Given the description of an element on the screen output the (x, y) to click on. 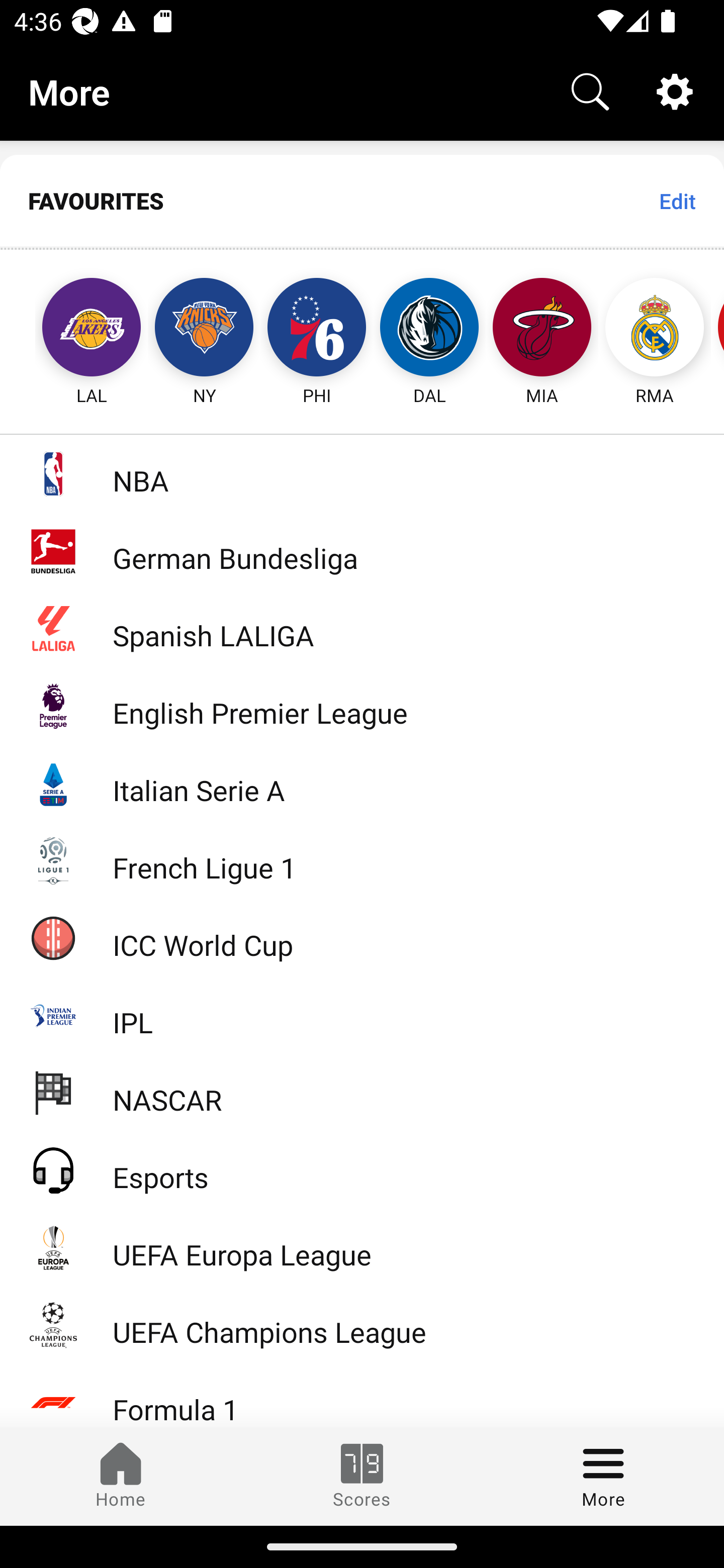
Search (590, 90)
Settings (674, 90)
Edit (676, 200)
LAL Los Angeles Lakers (73, 328)
NY New York Knicks (203, 328)
PHI Philadelphia 76ers (316, 328)
DAL Dallas Mavericks (428, 328)
MIA Miami Heat (541, 328)
RMA Real Madrid (654, 328)
NBA (362, 473)
German Bundesliga (362, 550)
Spanish LALIGA (362, 627)
English Premier League (362, 705)
Italian Serie A (362, 782)
French Ligue 1 (362, 859)
ICC World Cup (362, 937)
IPL (362, 1014)
NASCAR (362, 1091)
Esports (362, 1169)
UEFA Europa League (362, 1246)
